Given the description of an element on the screen output the (x, y) to click on. 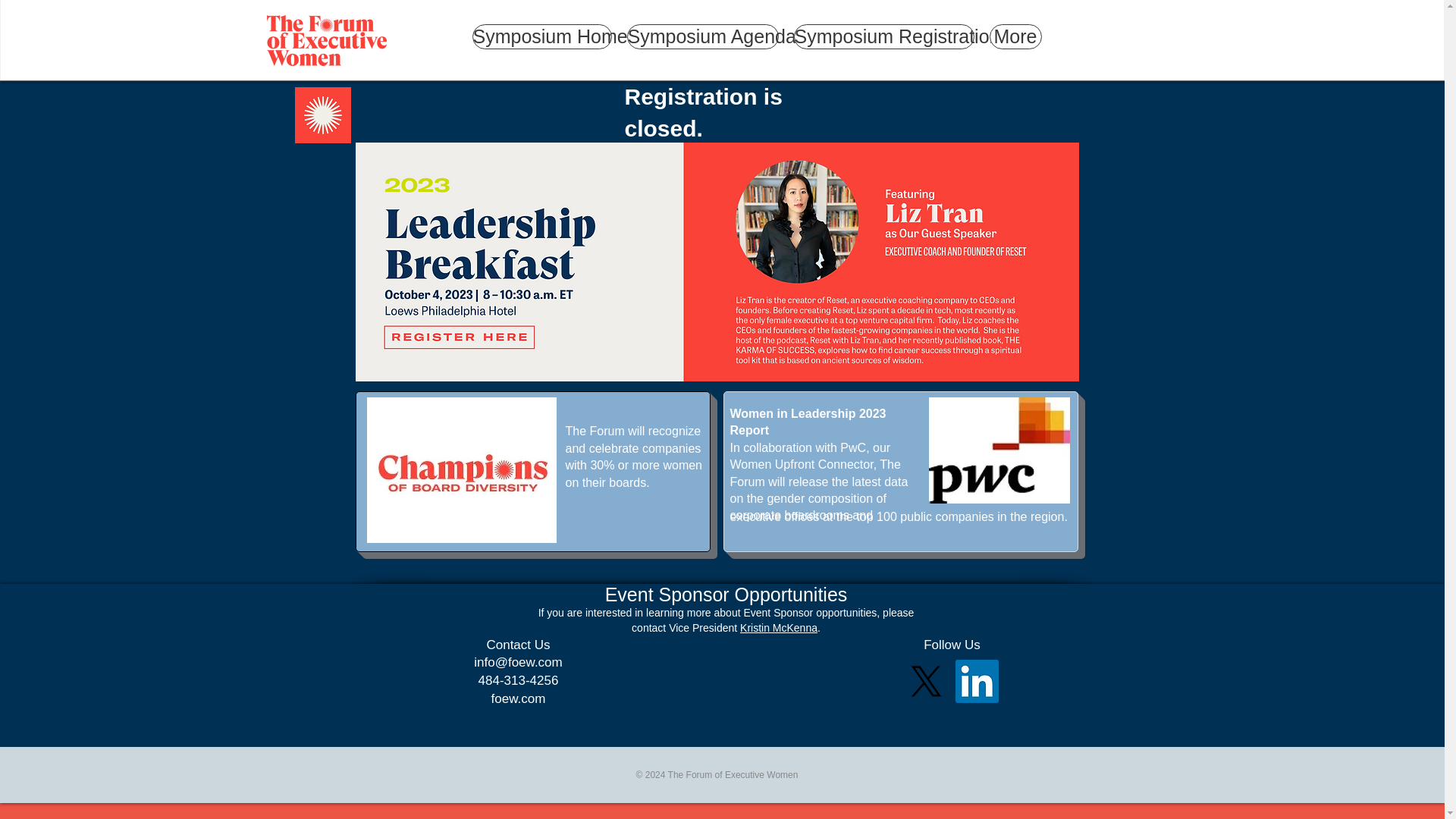
Symposium Agenda (701, 36)
PwC 150.jpg (998, 450)
Symposium Registration (883, 36)
Champions Small.jpg (461, 469)
Kristin McKenna (777, 627)
Symposium Home (541, 36)
foew.com (519, 698)
